Given the description of an element on the screen output the (x, y) to click on. 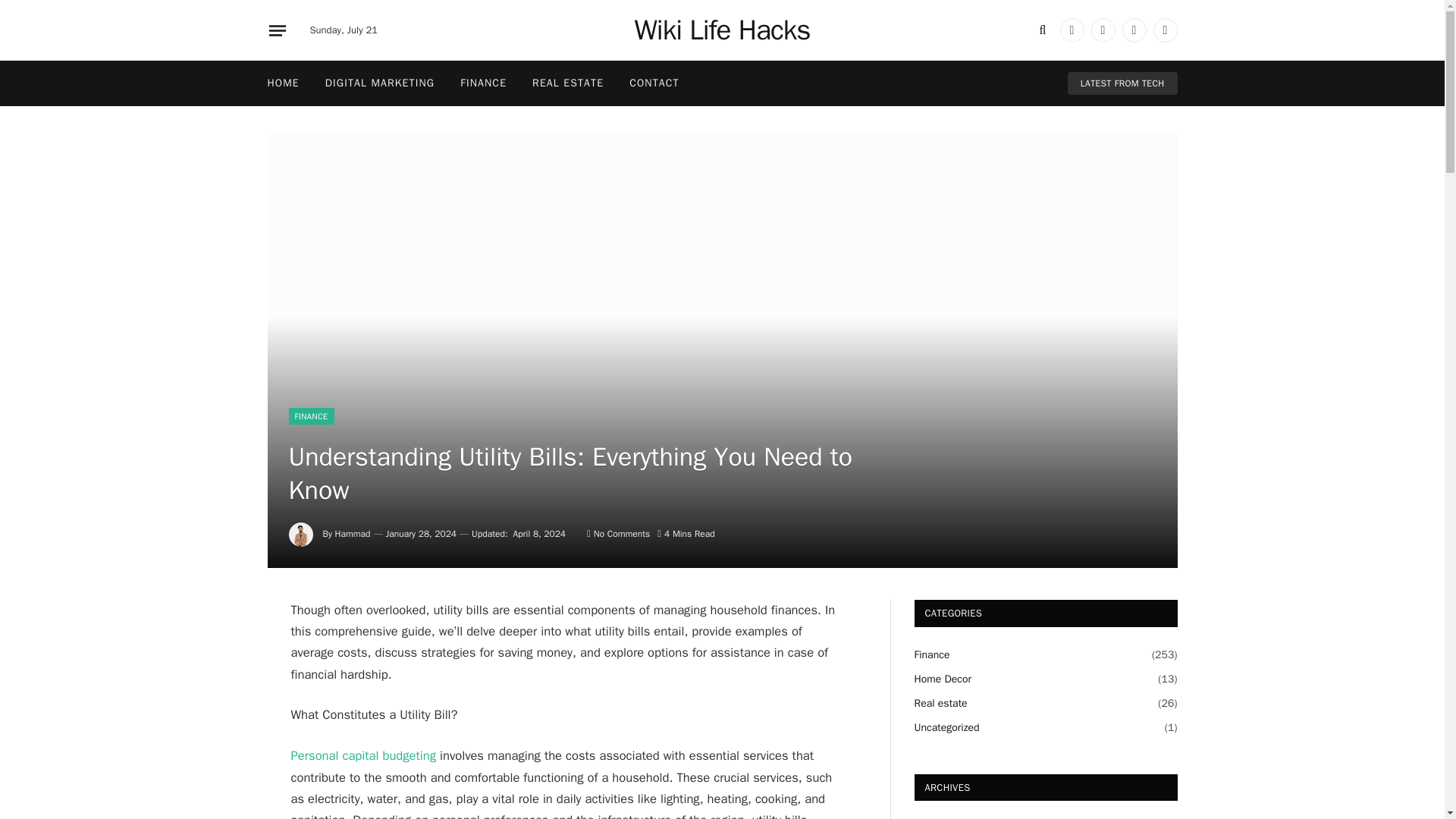
Wiki Life Hacks (722, 30)
Instagram (1134, 30)
Personal capital budgeting (363, 755)
CONTACT (653, 83)
HOME (283, 83)
FINANCE (310, 416)
Wiki Life Hacks (722, 30)
DIGITAL MARKETING (379, 83)
Facebook (1071, 30)
FINANCE (482, 83)
Posts by Hammad (352, 533)
Home Decor (943, 678)
REAL ESTATE (567, 83)
Finance (932, 654)
Hammad (352, 533)
